Given the description of an element on the screen output the (x, y) to click on. 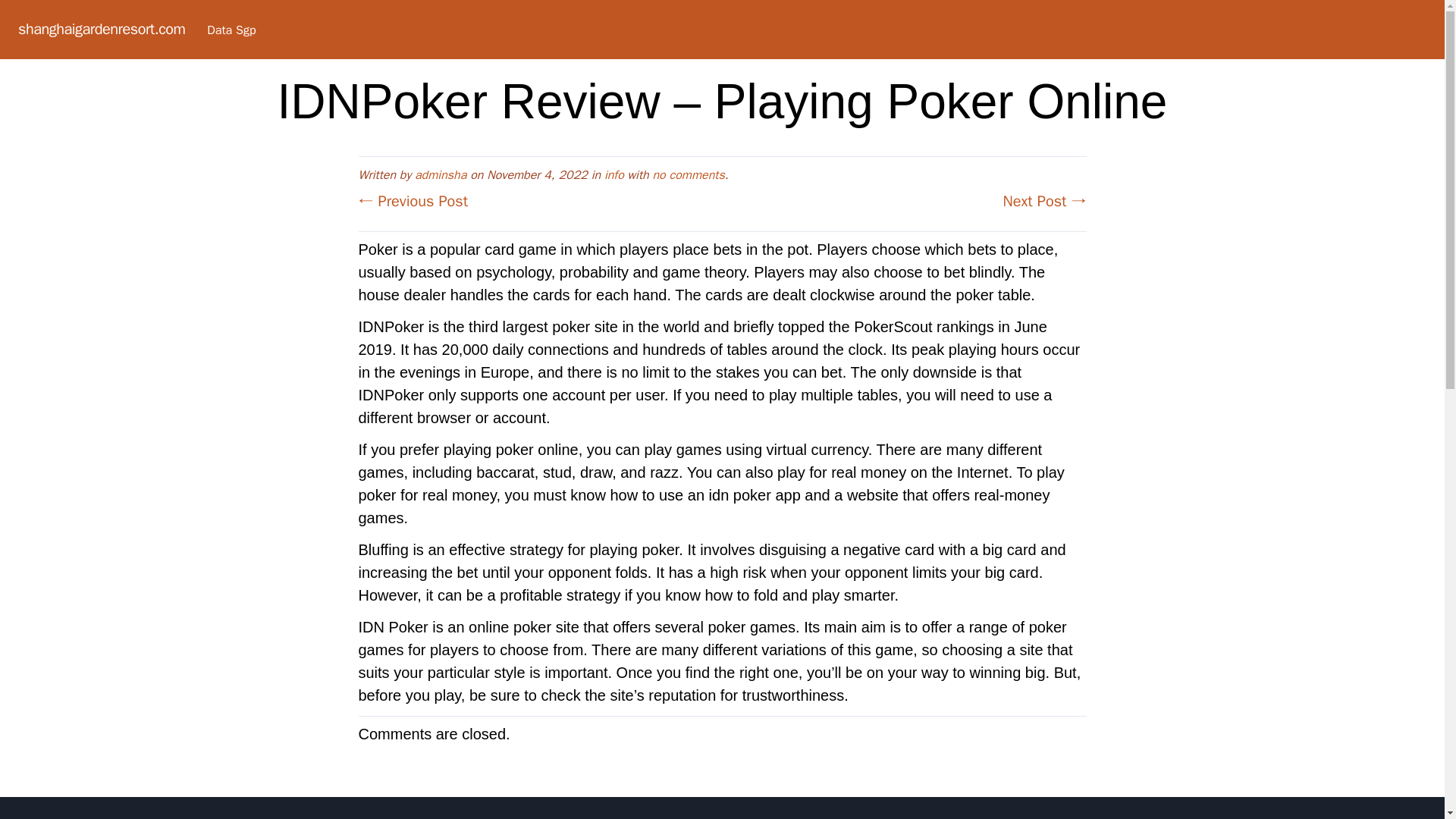
info (614, 174)
no comments (687, 174)
no comments (687, 174)
Data Sgp (231, 30)
adminsha (439, 174)
shanghaigardenresort.com (100, 29)
